Given the description of an element on the screen output the (x, y) to click on. 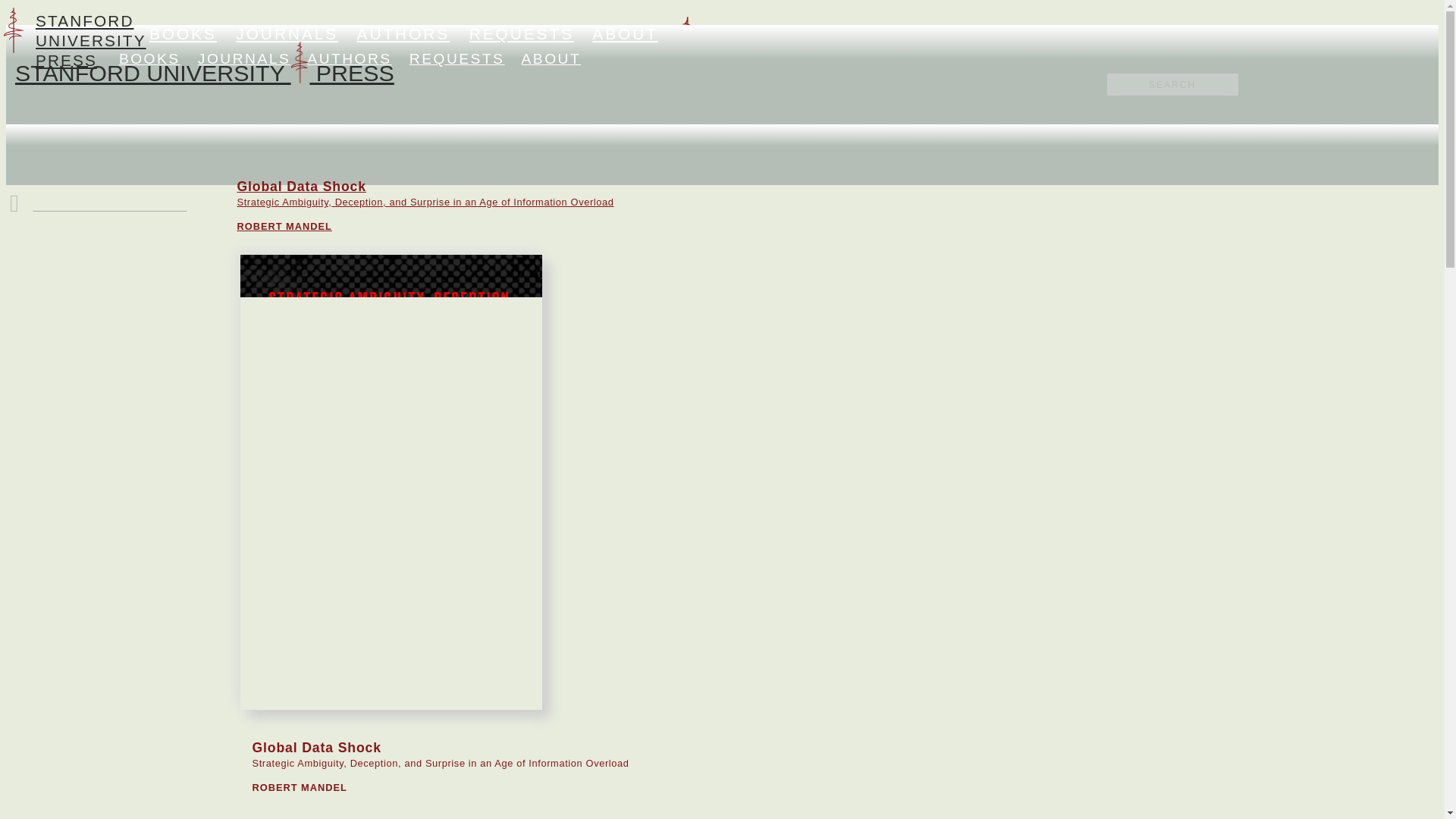
BOOKS (182, 33)
STANFORD UNIVERSITY PRESS (204, 72)
ABOUT (625, 33)
AUTHORS (402, 33)
JOURNALS (243, 58)
AUTHORS (349, 58)
REQUESTS (520, 33)
REQUESTS (457, 58)
STANFORD UNIVERSITY PRESS (506, 74)
JOURNALS (286, 33)
BOOKS (90, 40)
ABOUT (149, 58)
